Given the description of an element on the screen output the (x, y) to click on. 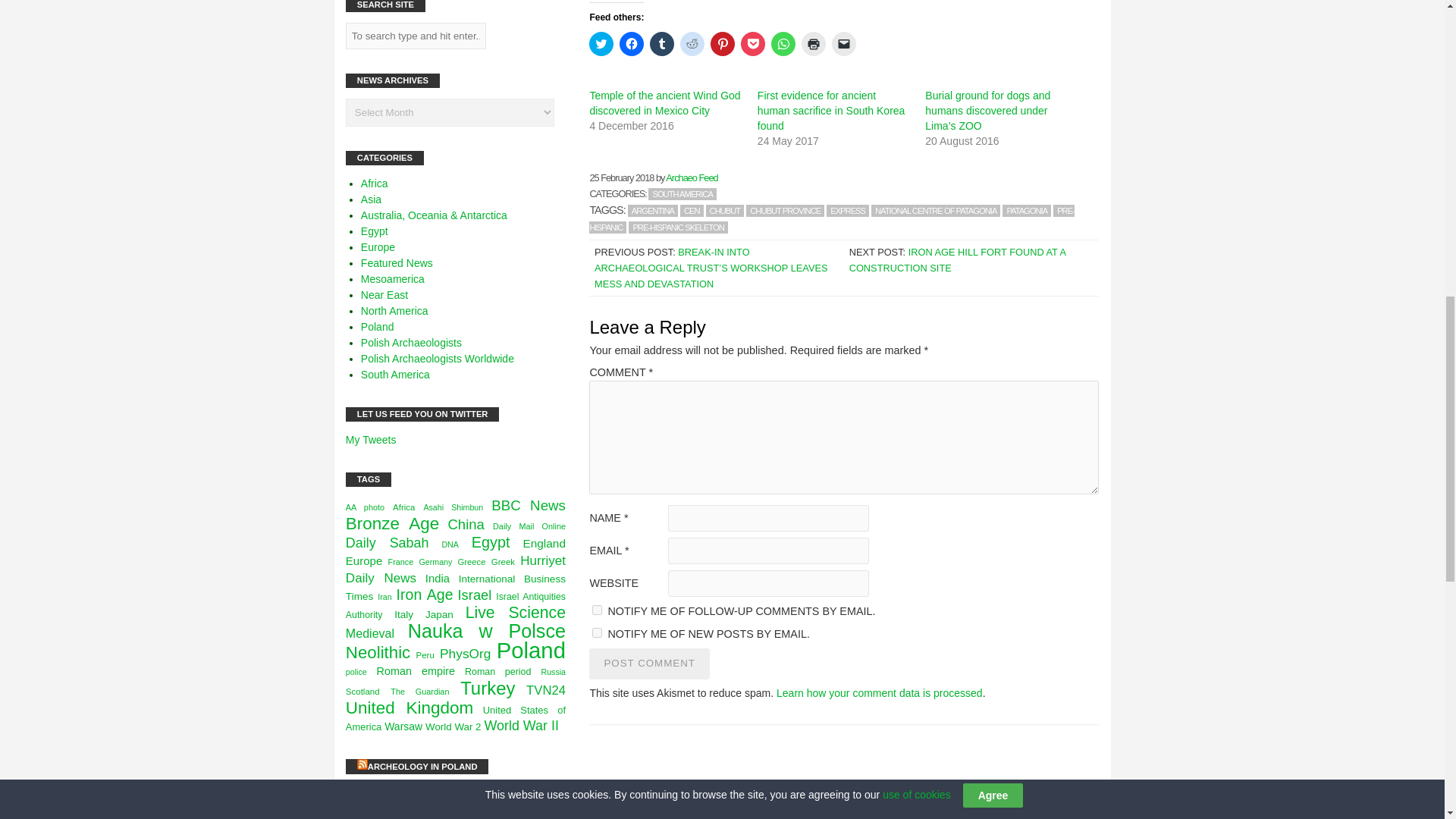
subscribe (597, 633)
subscribe (597, 610)
SOUTH AMERICA (681, 193)
NATIONAL CENTRE OF PATAGONIA (935, 210)
Temple of the ancient Wind God discovered in Mexico City (664, 103)
Posts by Archaeo Feed (691, 177)
PATAGONIA (1027, 210)
Click to share on Reddit (691, 43)
Click to share on Twitter (600, 43)
